Given the description of an element on the screen output the (x, y) to click on. 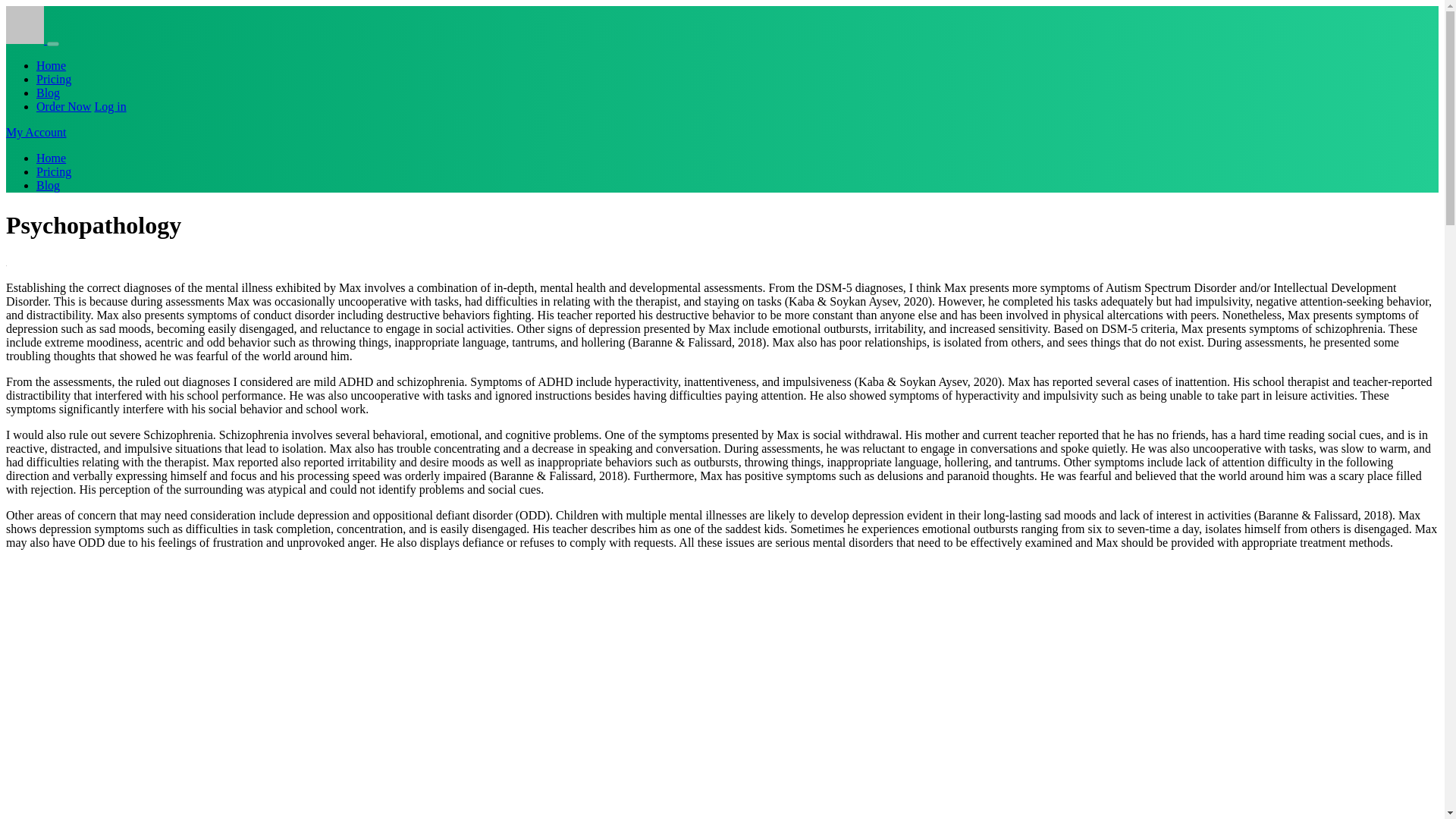
Blog (47, 185)
Blog (47, 92)
Pricing (53, 171)
Pricing (53, 78)
Log in (109, 106)
Home (50, 65)
Blog (47, 92)
Home (50, 157)
Home (50, 157)
Pricing (53, 171)
